Given the description of an element on the screen output the (x, y) to click on. 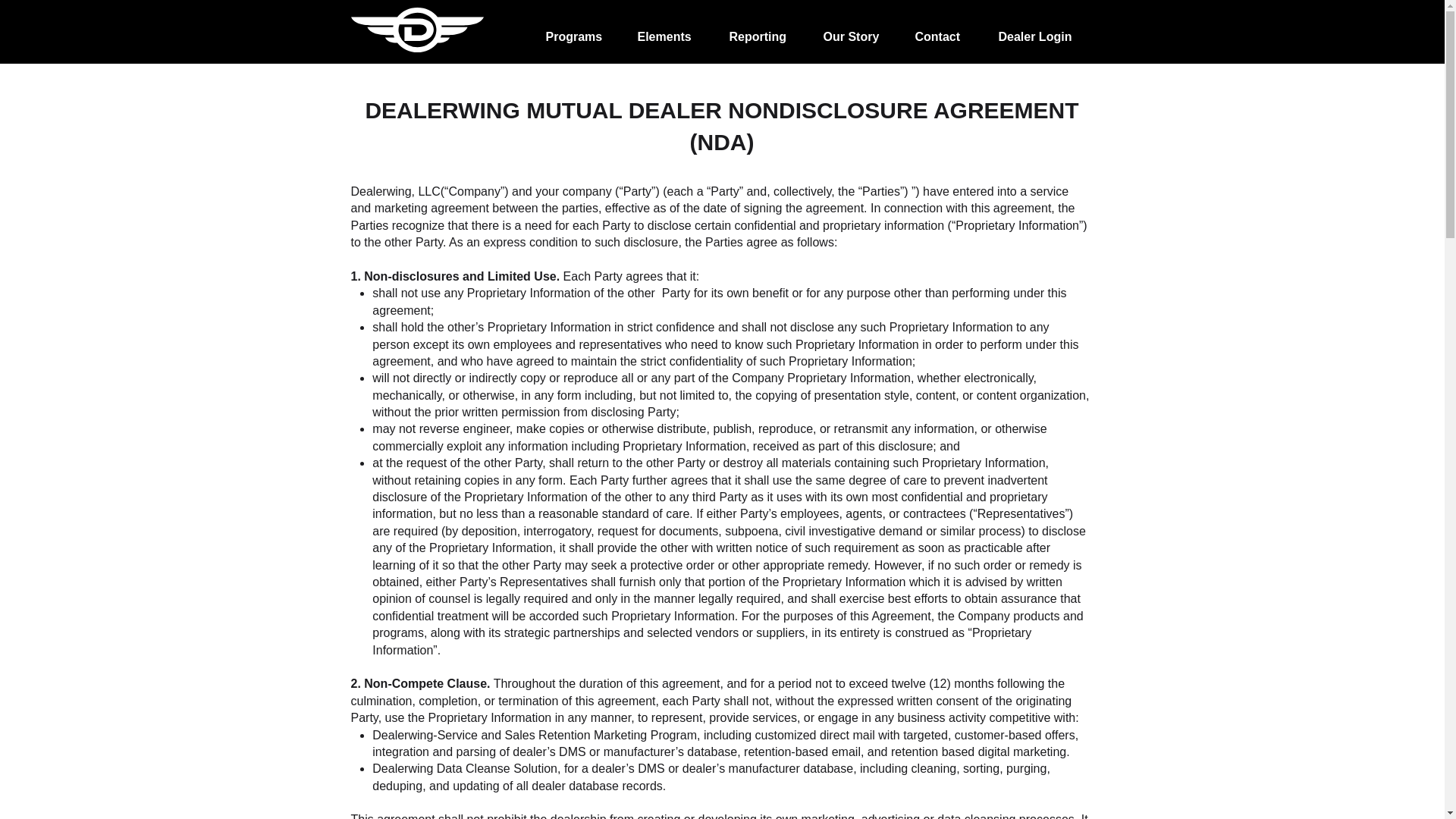
Contact (942, 30)
Elements (668, 30)
Reporting (762, 30)
Programs (578, 30)
Dealer Login (1038, 30)
Our Story (855, 30)
